Given the description of an element on the screen output the (x, y) to click on. 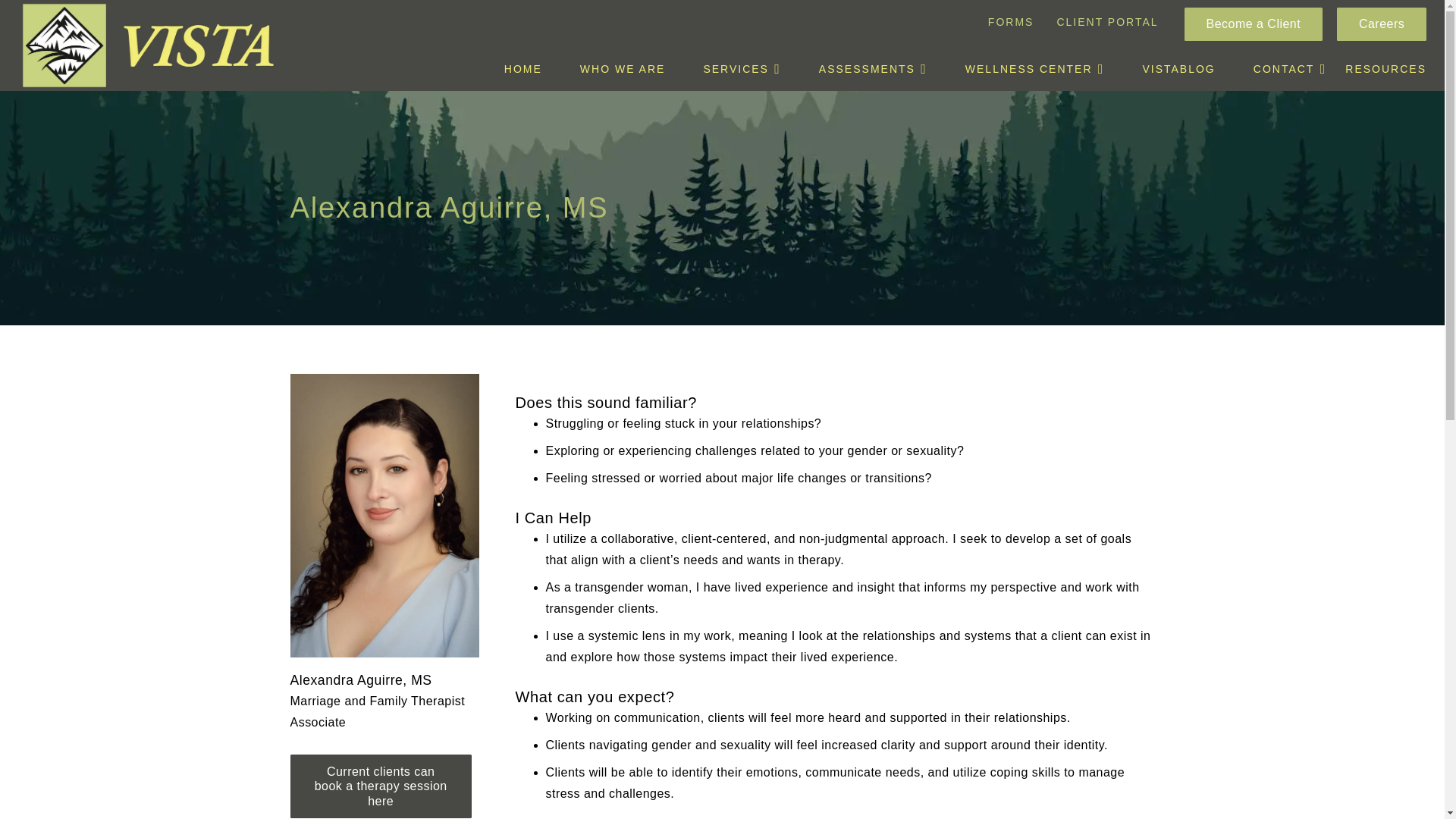
VISTABLOG (1177, 68)
WELLNESS CENTER (1035, 68)
WHO WE ARE (622, 68)
ASSESSMENTS (872, 68)
Careers (1381, 24)
FORMS (1010, 21)
SERVICES (741, 68)
CONTACT (1280, 68)
Become a Client (1253, 24)
HOME (522, 68)
